Given the description of an element on the screen output the (x, y) to click on. 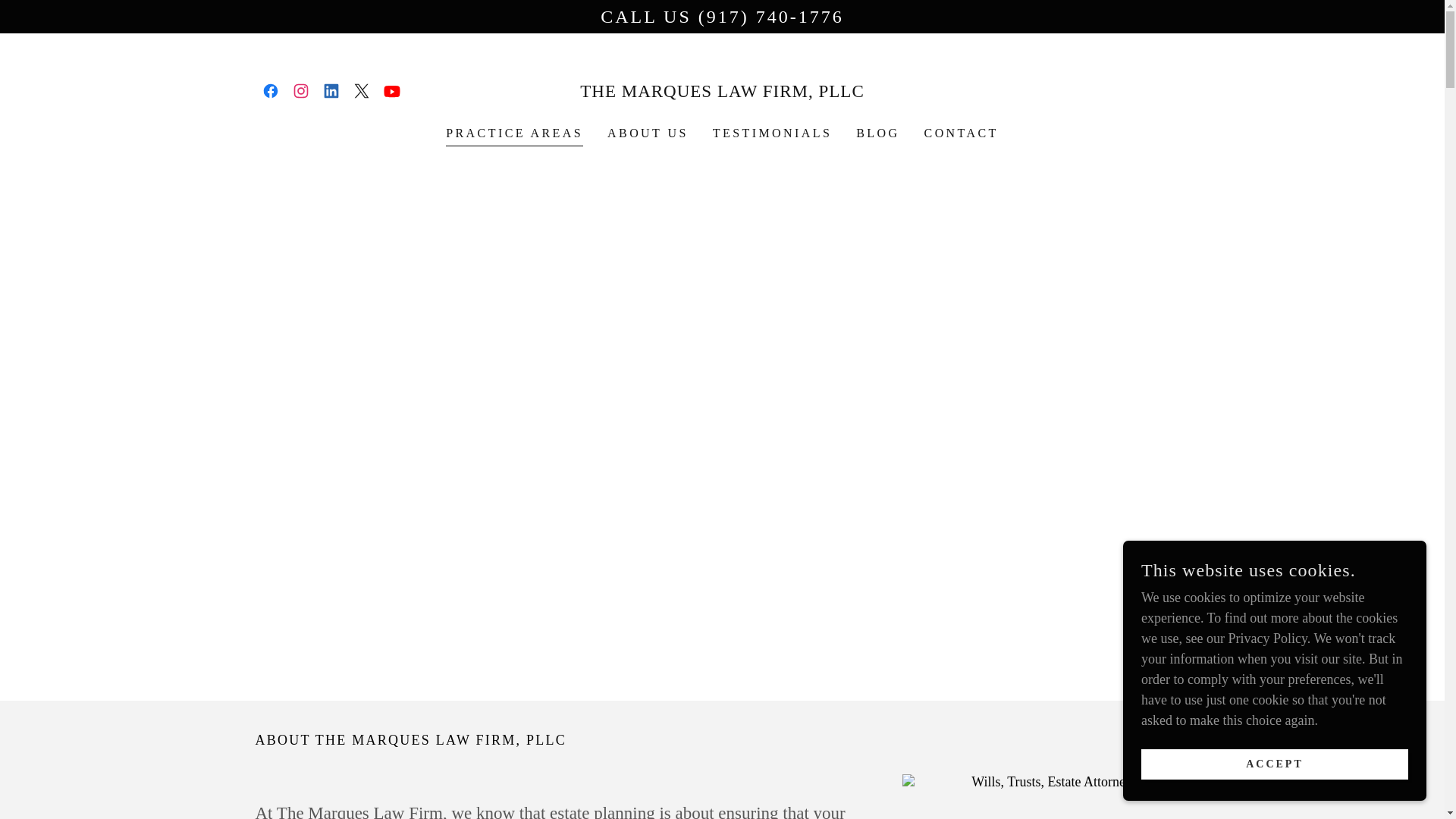
THE MARQUES LAW FIRM, PLLC (721, 92)
ABOUT US (647, 133)
THE MARQUES LAW FIRM, PLLC             (721, 92)
CONTACT (961, 133)
TESTIMONIALS (772, 133)
BLOG (877, 133)
PRACTICE AREAS (514, 135)
